Given the description of an element on the screen output the (x, y) to click on. 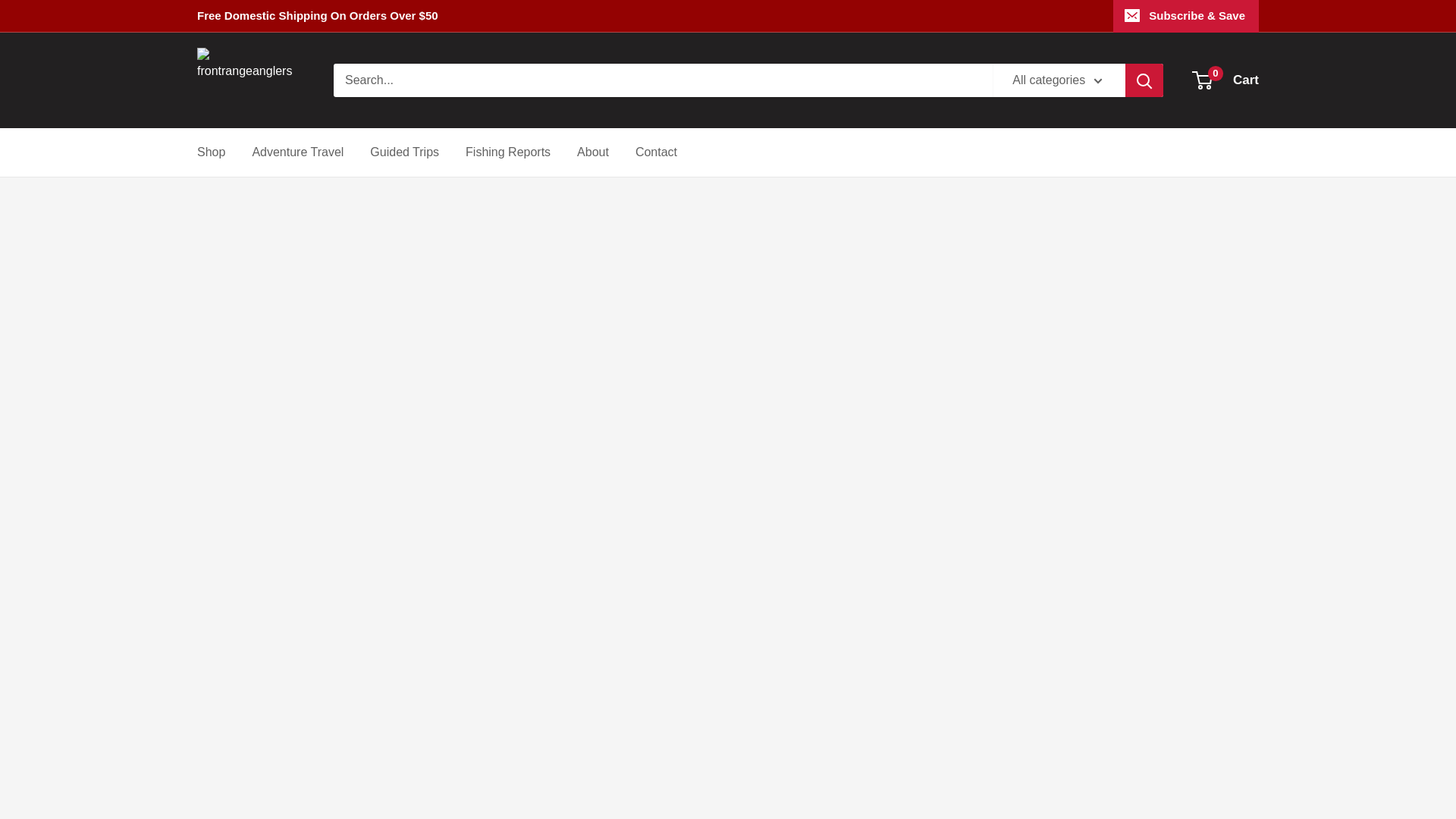
frontrangeanglers (249, 80)
Shop (210, 151)
Guided Trips (404, 151)
Contact (655, 151)
About (592, 151)
Fishing Reports (1226, 79)
Adventure Travel (507, 151)
